Given the description of an element on the screen output the (x, y) to click on. 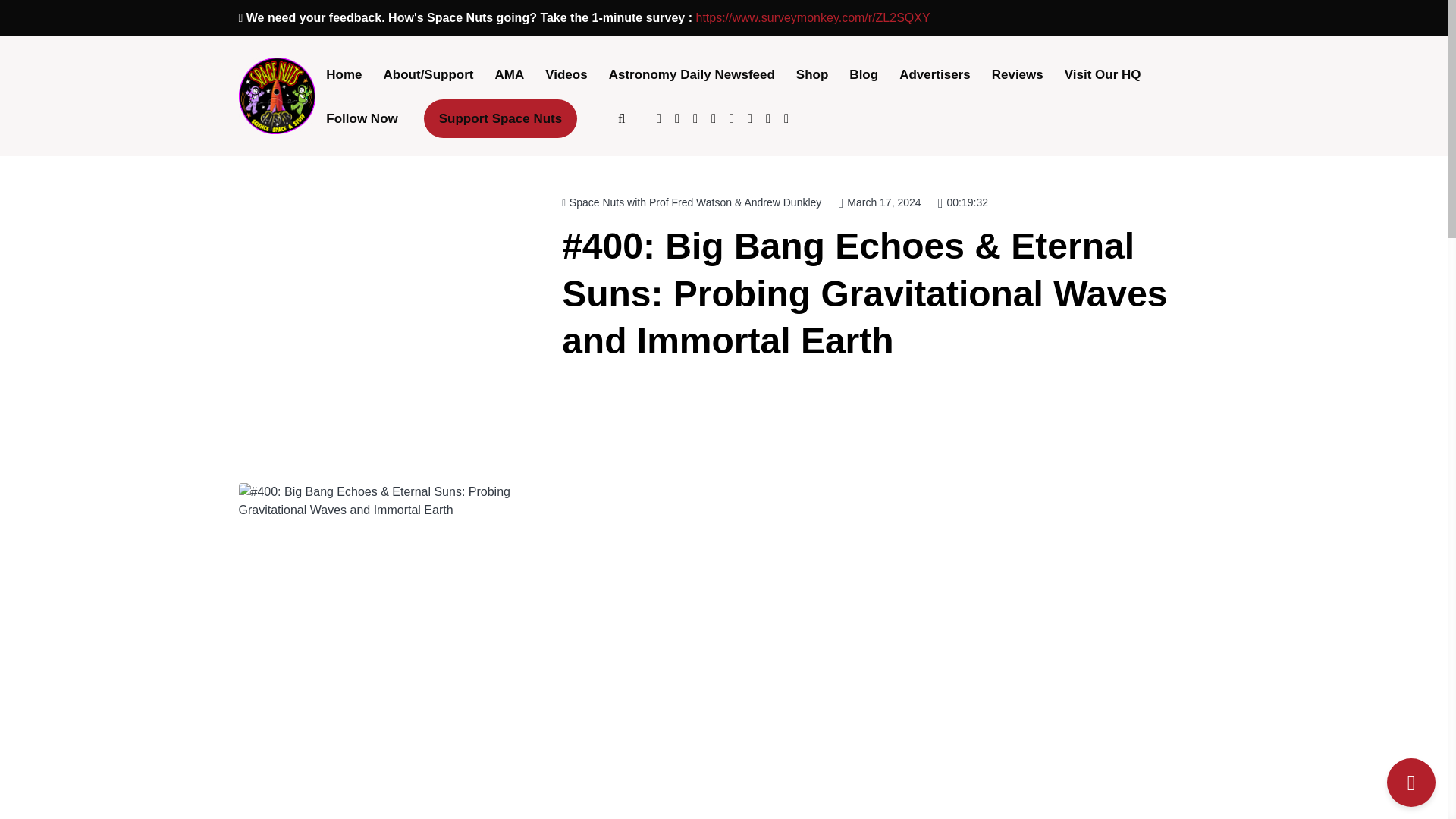
Follow Now (361, 119)
Videos (565, 75)
Reviews (1017, 75)
Advertisers (934, 75)
AMA (509, 75)
Visit Our HQ (1102, 75)
Astronomy Daily Newsfeed (692, 75)
Shop (813, 75)
Date (879, 201)
Episode Duration (962, 201)
